Given the description of an element on the screen output the (x, y) to click on. 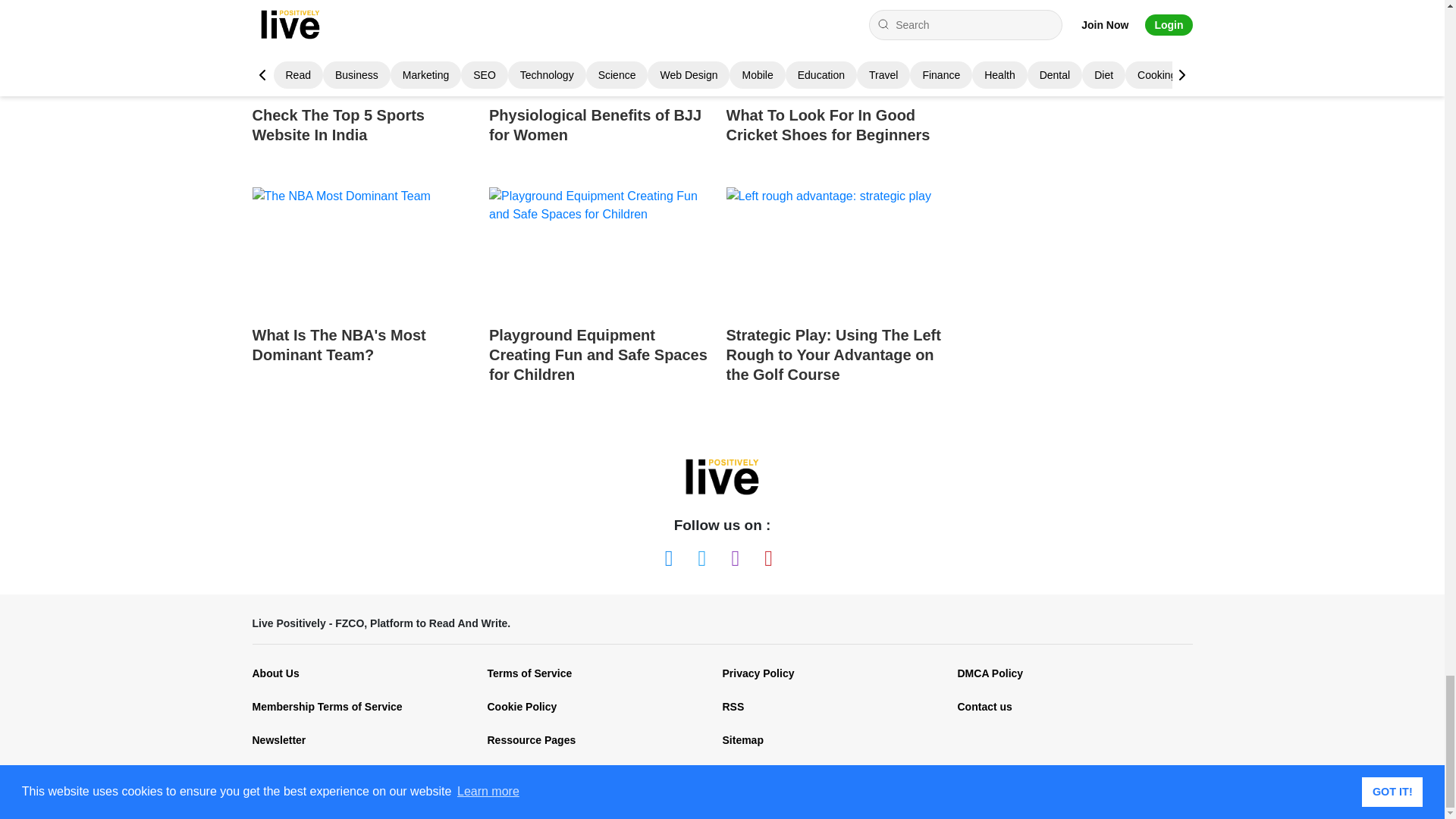
What To Look For In Good Cricket Shoes for Beginners (839, 85)
Physiological Benefits of BJJ for Women (601, 85)
Good Cricket Shoes for Beginners (839, 47)
The NBA Most Dominant Team (364, 250)
Check The Top 5 Sports Website In India (364, 85)
BJJ Women (601, 47)
What Is The NBA's Most Dominant Team? (364, 289)
